Given the description of an element on the screen output the (x, y) to click on. 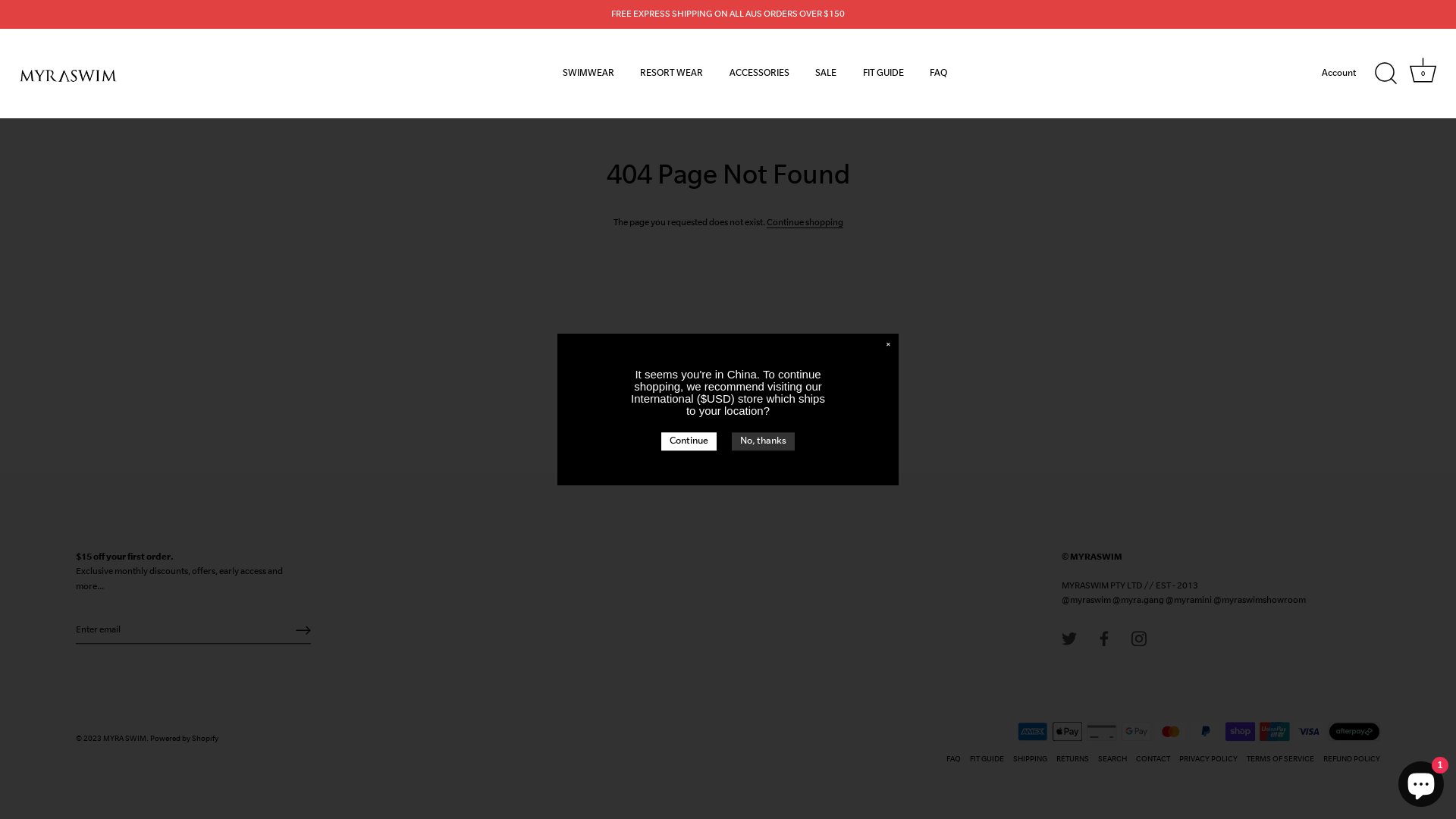
SWIMWEAR Element type: text (588, 73)
Continue Element type: text (688, 441)
ACCESSORIES Element type: text (759, 73)
SEARCH Element type: text (1112, 759)
SALE Element type: text (825, 73)
Cart
0 Element type: text (1422, 73)
PRIVACY POLICY Element type: text (1208, 759)
Shopify online store chat Element type: hover (1420, 780)
Account Element type: text (1351, 73)
RETURNS Element type: text (1072, 759)
MYRA SWIM Element type: text (124, 738)
FAQ Element type: text (953, 759)
CONTACT Element type: text (1152, 759)
Continue shopping Element type: text (803, 222)
FIT GUIDE Element type: text (882, 73)
Right arrow long Element type: text (302, 629)
Twitter Element type: text (1068, 637)
SHIPPING Element type: text (1030, 759)
Powered by Shopify Element type: text (184, 738)
RESORT WEAR Element type: text (671, 73)
Instagram Element type: text (1138, 637)
No, thanks Element type: text (762, 441)
REFUND POLICY Element type: text (1351, 759)
FIT GUIDE Element type: text (986, 759)
TERMS OF SERVICE Element type: text (1280, 759)
FAQ Element type: text (938, 73)
